Given the description of an element on the screen output the (x, y) to click on. 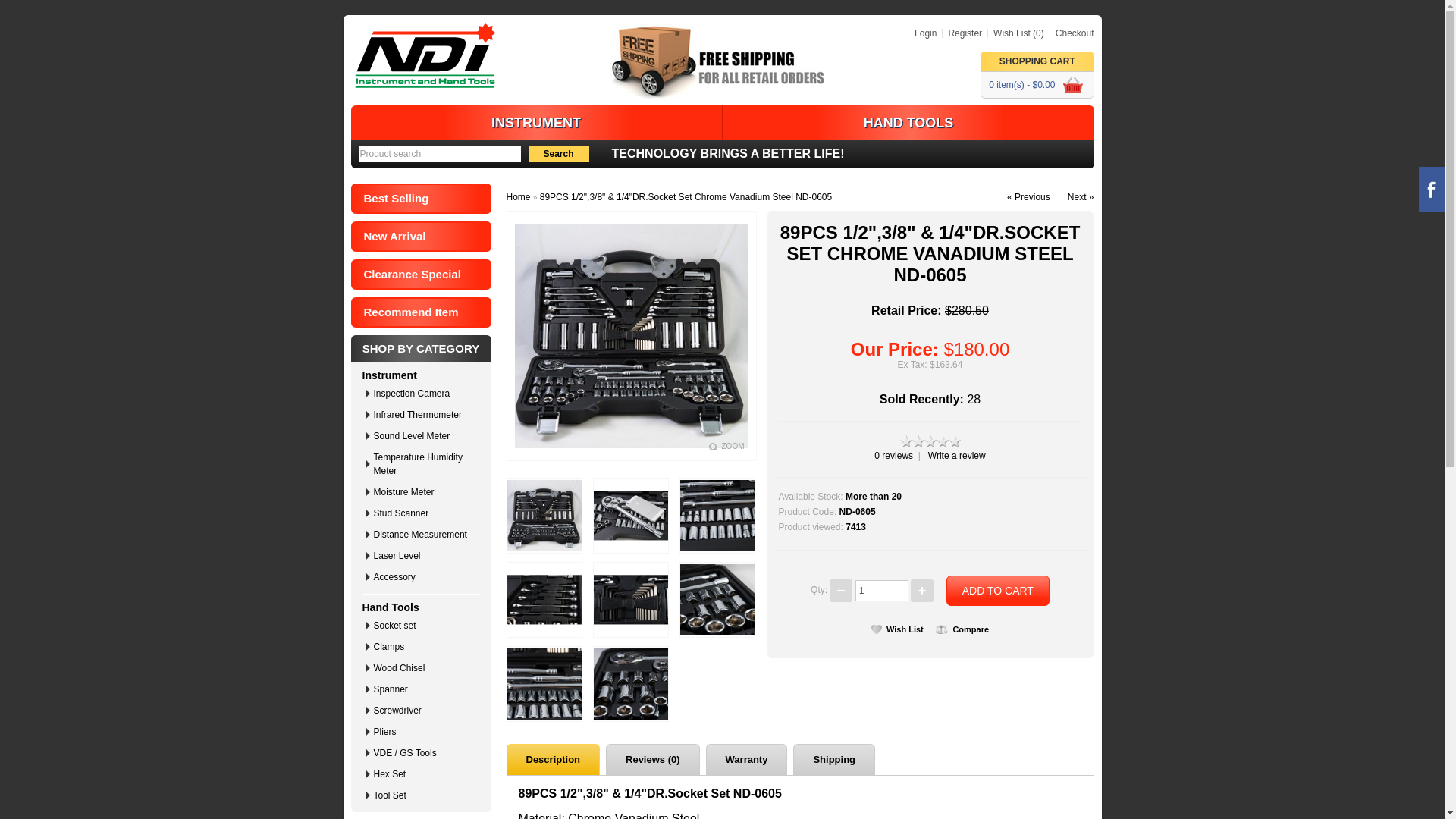
0 reviews Element type: text (893, 455)
VDE / GS Tools Element type: text (424, 752)
Best Selling Element type: text (420, 198)
Infrared Thermometer Element type: text (424, 414)
Laser Level Element type: text (424, 555)
Clearance Special Element type: text (420, 274)
Compare Element type: text (961, 629)
Socket set Element type: text (424, 625)
Stud Scanner Element type: text (424, 513)
Moisture Meter Element type: text (424, 491)
Description Element type: text (553, 759)
Home Element type: text (518, 196)
Warranty Element type: text (746, 759)
Spanner Element type: text (424, 689)
Reviews (0) Element type: text (652, 759)
Shipping Element type: text (834, 759)
Accessory Element type: text (424, 576)
Wish List (0) Element type: text (1015, 32)
Checkout Element type: text (1071, 32)
Hex Set Element type: text (424, 774)
Temperature Humidity Meter Element type: text (424, 463)
Hand Tools Element type: text (390, 607)
Login Element type: text (925, 32)
Recommend Item Element type: text (420, 312)
Pliers Element type: text (424, 731)
Distance Measurement Element type: text (424, 534)
Clamps Element type: text (424, 646)
INSTRUMENT Element type: text (535, 122)
ZOOM Element type: text (726, 446)
HAND TOOLS Element type: text (907, 122)
Screwdriver Element type: text (424, 710)
New Arrival Element type: text (420, 236)
Write a review Element type: text (956, 455)
Sound Level Meter Element type: text (424, 435)
Instrument Element type: text (389, 375)
Inspection Camera Element type: text (424, 393)
0 item(s) - $0.00 Element type: text (1036, 84)
Register Element type: text (961, 32)
Wood Chisel Element type: text (424, 667)
NDI Instrument and Hand Tools Element type: hover (424, 54)
Wish List Element type: text (897, 629)
Tool Set Element type: text (424, 795)
Search Element type: text (557, 153)
